Given the description of an element on the screen output the (x, y) to click on. 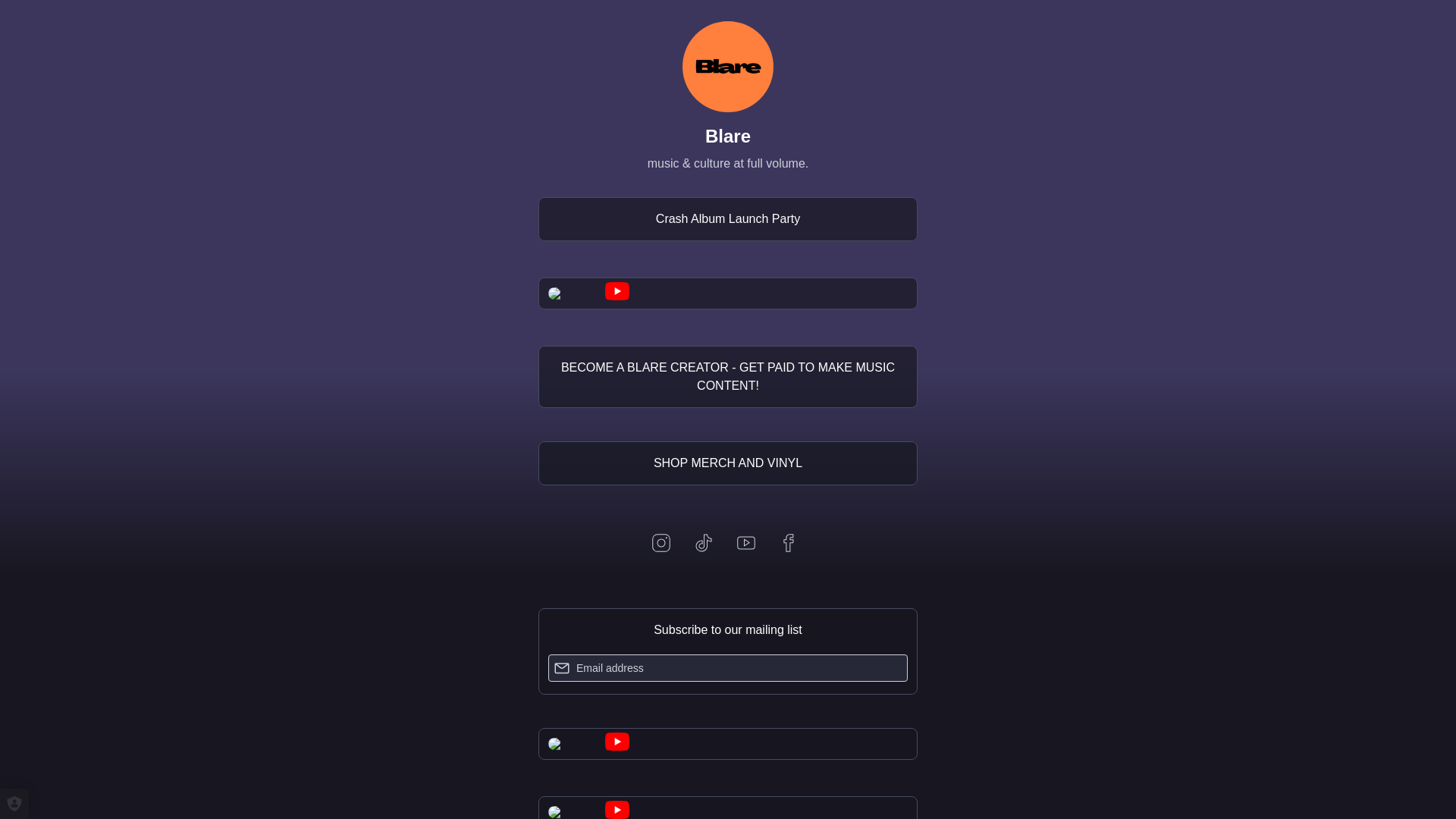
BECOME A BLARE CREATOR - GET PAID TO MAKE MUSIC CONTENT! (727, 376)
SHOP MERCH AND VINYL (727, 463)
SHOP MERCH AND VINYL (727, 463)
Privacy settings (14, 803)
Crash Album Launch Party (727, 218)
Crash Album Launch Party (727, 218)
BECOME A BLARE CREATOR - GET PAID TO MAKE MUSIC CONTENT! (727, 376)
